Given the description of an element on the screen output the (x, y) to click on. 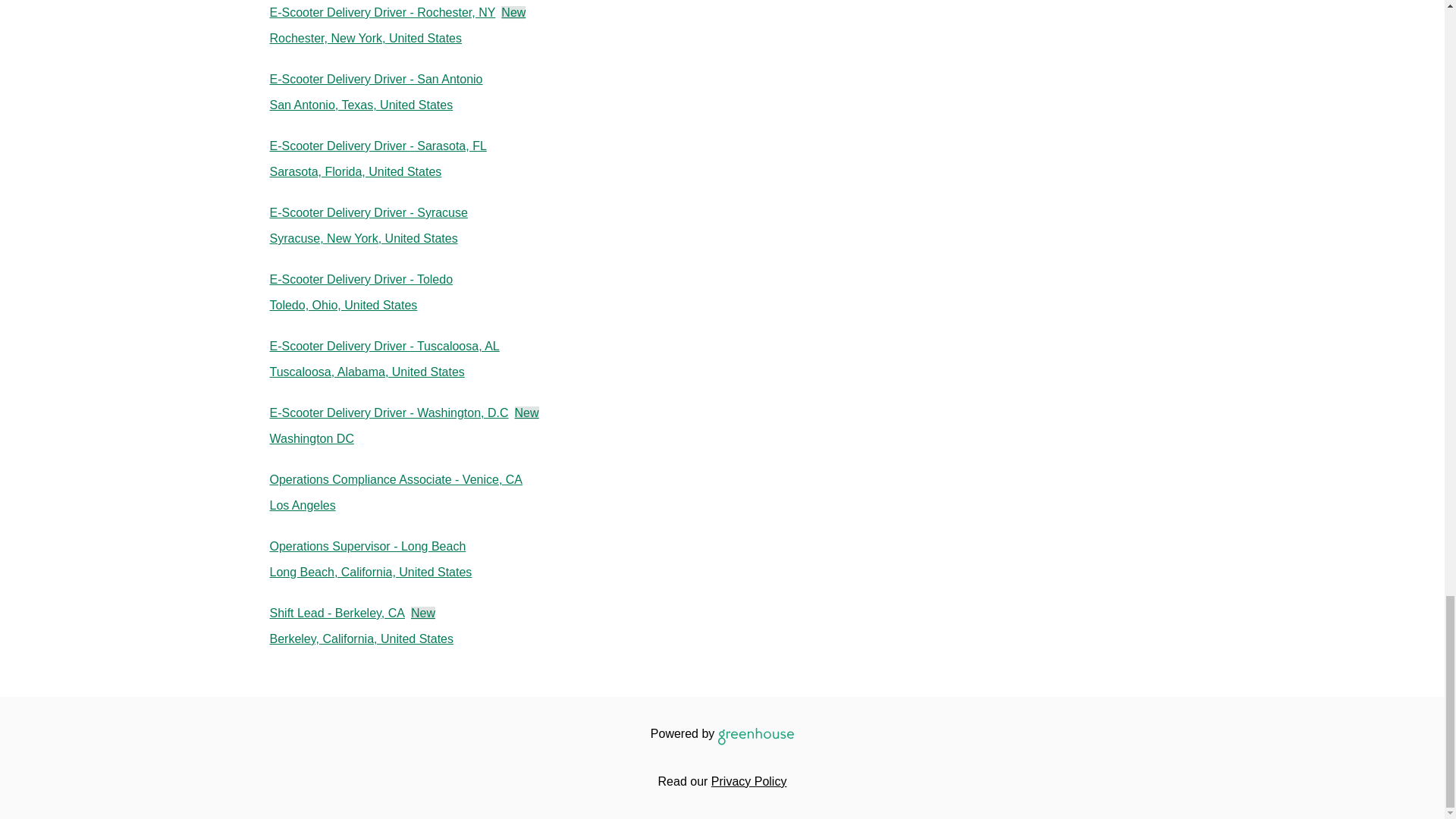
Privacy Policy (417, 425)
